Given the description of an element on the screen output the (x, y) to click on. 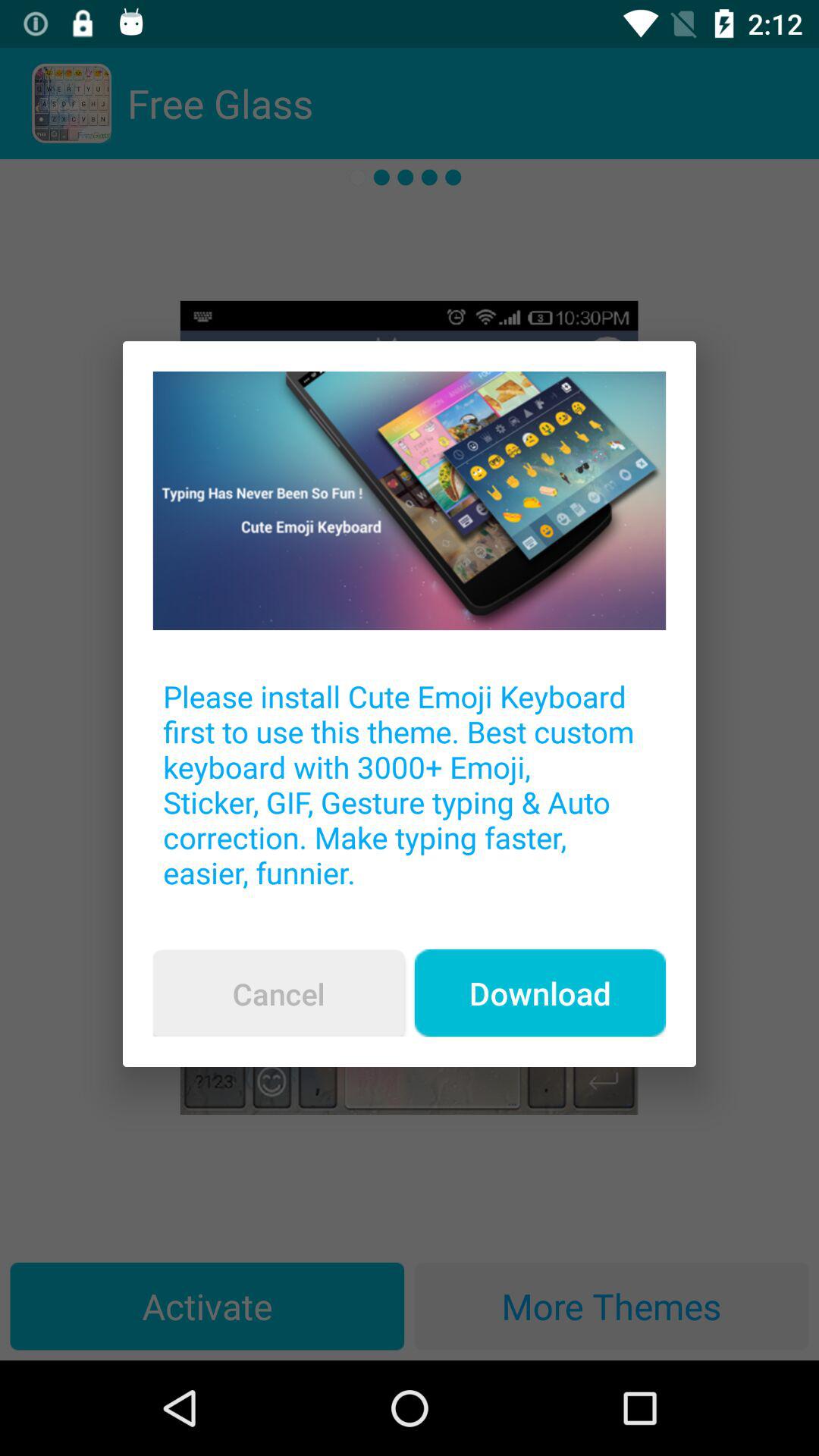
scroll to download item (540, 992)
